Given the description of an element on the screen output the (x, y) to click on. 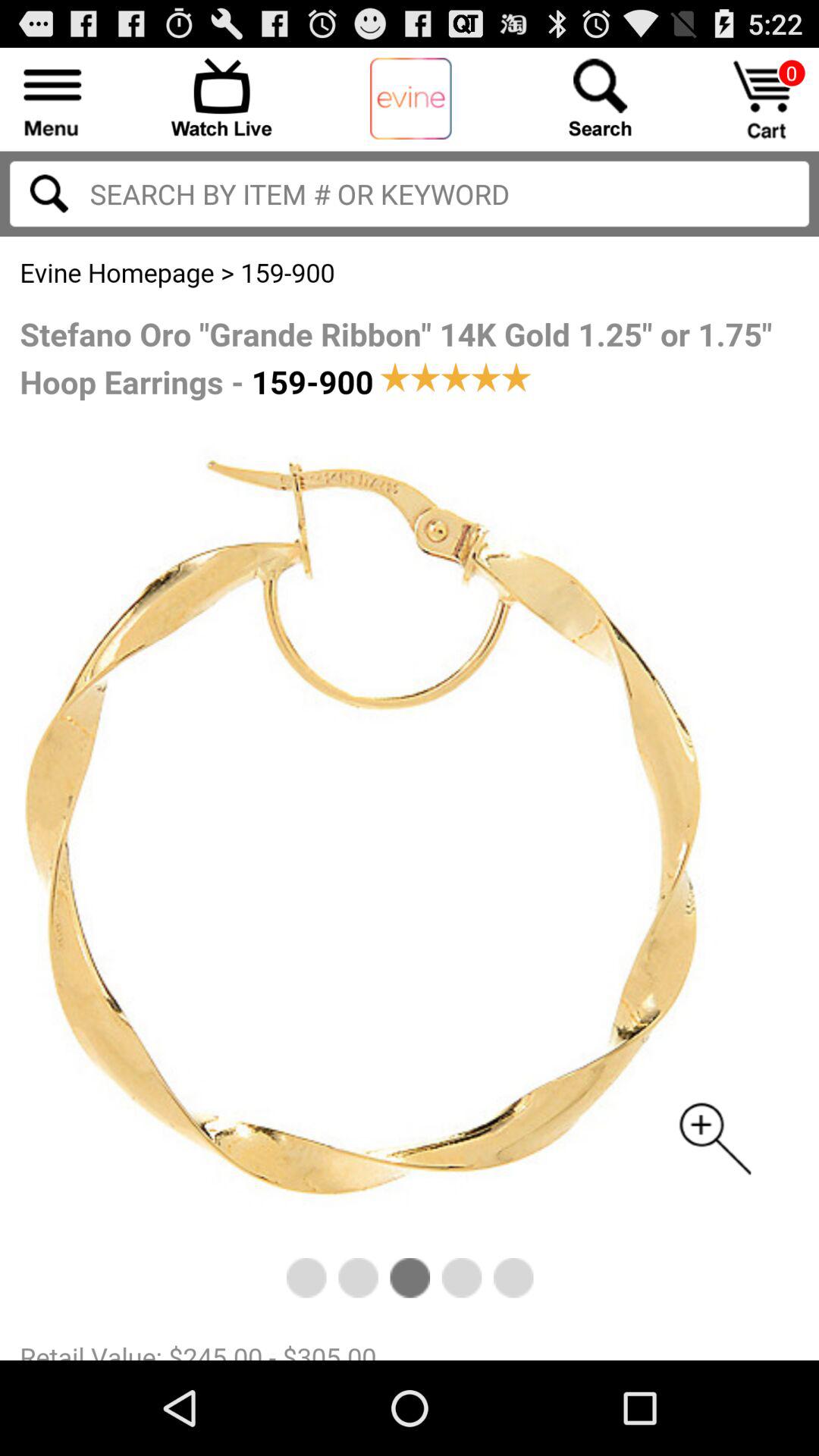
watch live (221, 97)
